Given the description of an element on the screen output the (x, y) to click on. 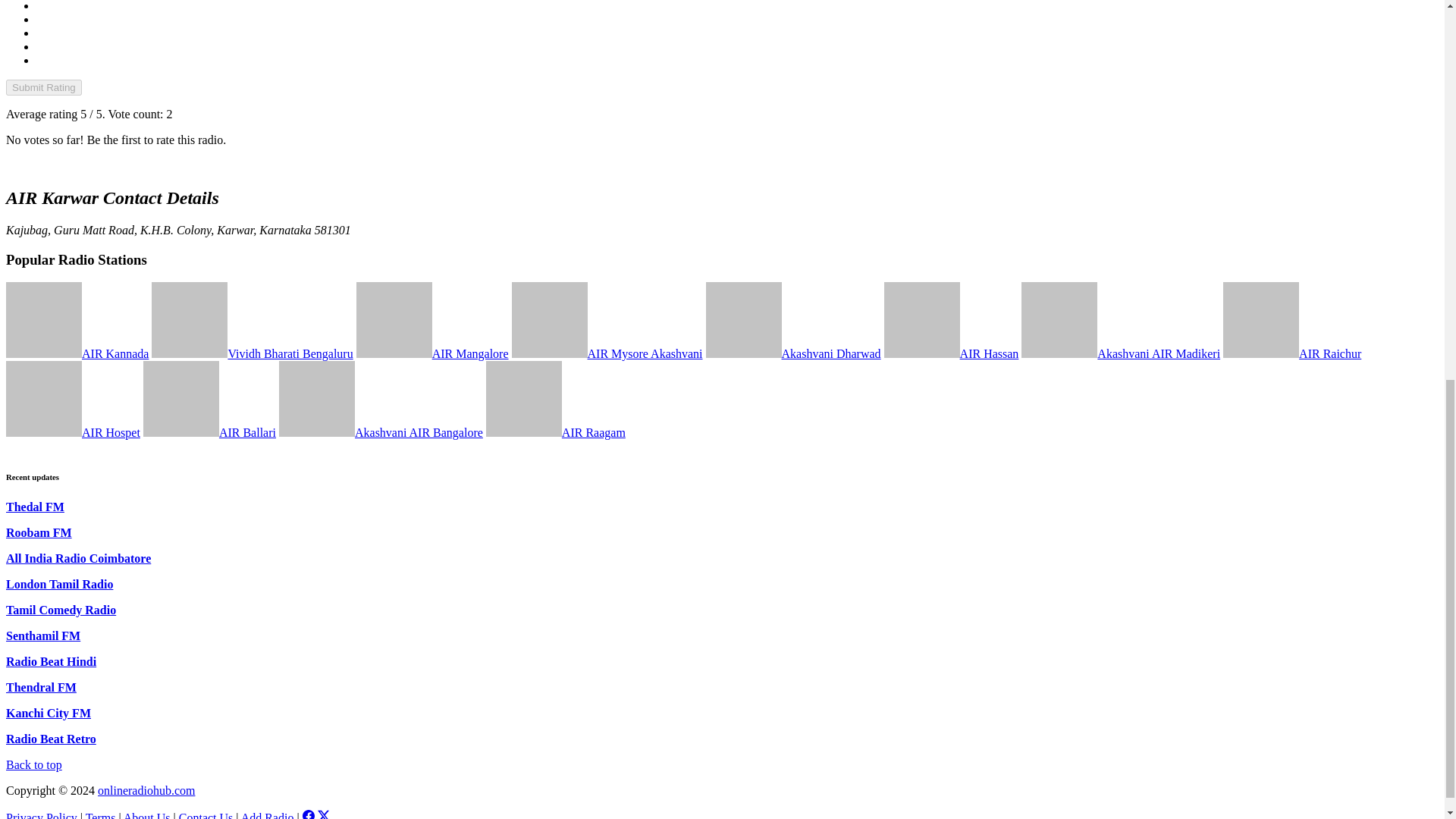
AIR Mangalore (432, 353)
AIR Hassan (951, 353)
AIR Hassan (951, 353)
Thedal FM (34, 506)
Vividh Bharati Bengaluru (251, 353)
AIR Kannada (76, 353)
Akashvani AIR Madikeri (1121, 353)
AIR Kannada (76, 353)
All India Radio Coimbatore (78, 558)
Roobam FM (38, 532)
